Given the description of an element on the screen output the (x, y) to click on. 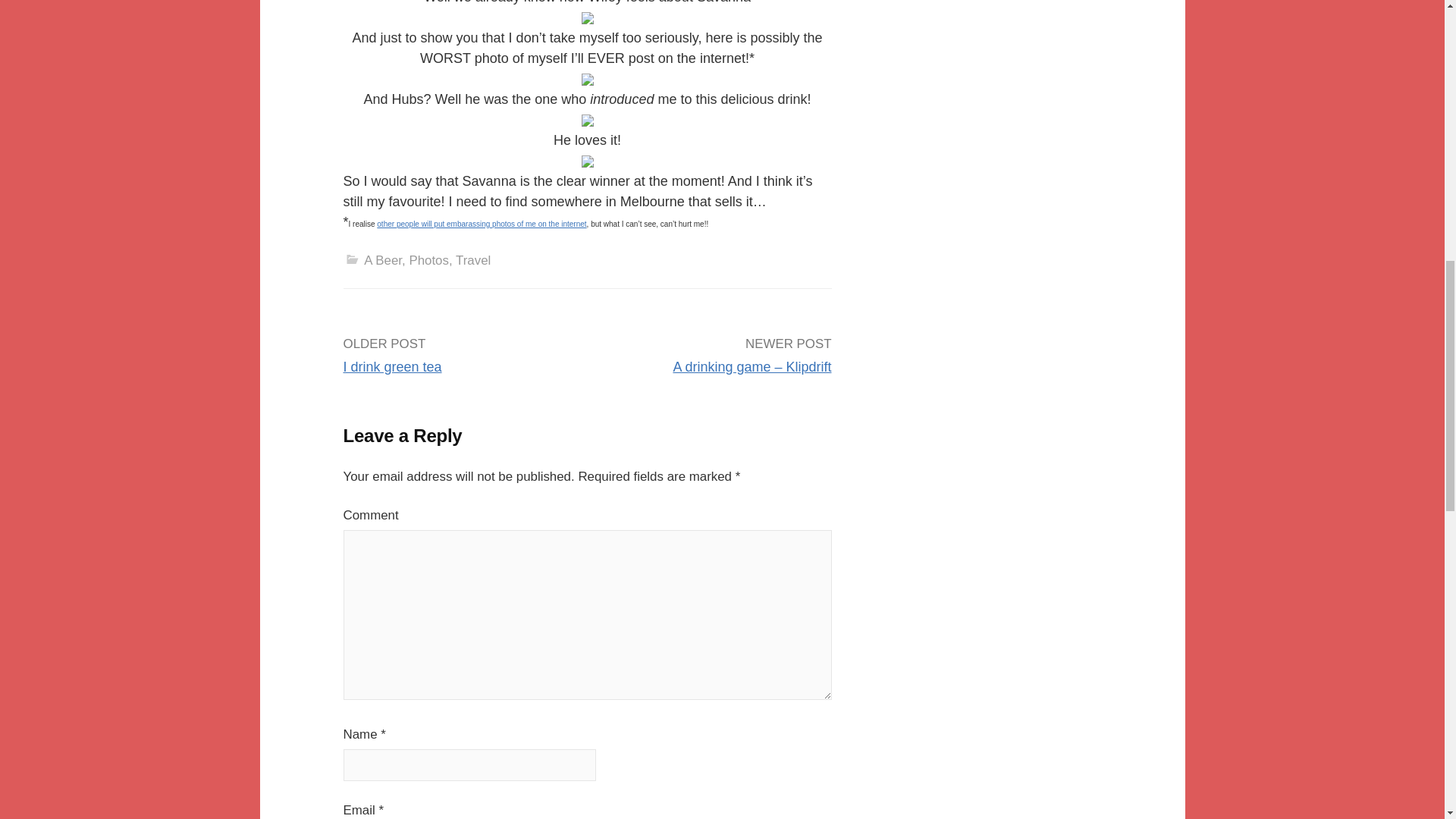
A Beer (382, 260)
Travel (472, 260)
I drink green tea (391, 366)
Photos (428, 260)
